Given the description of an element on the screen output the (x, y) to click on. 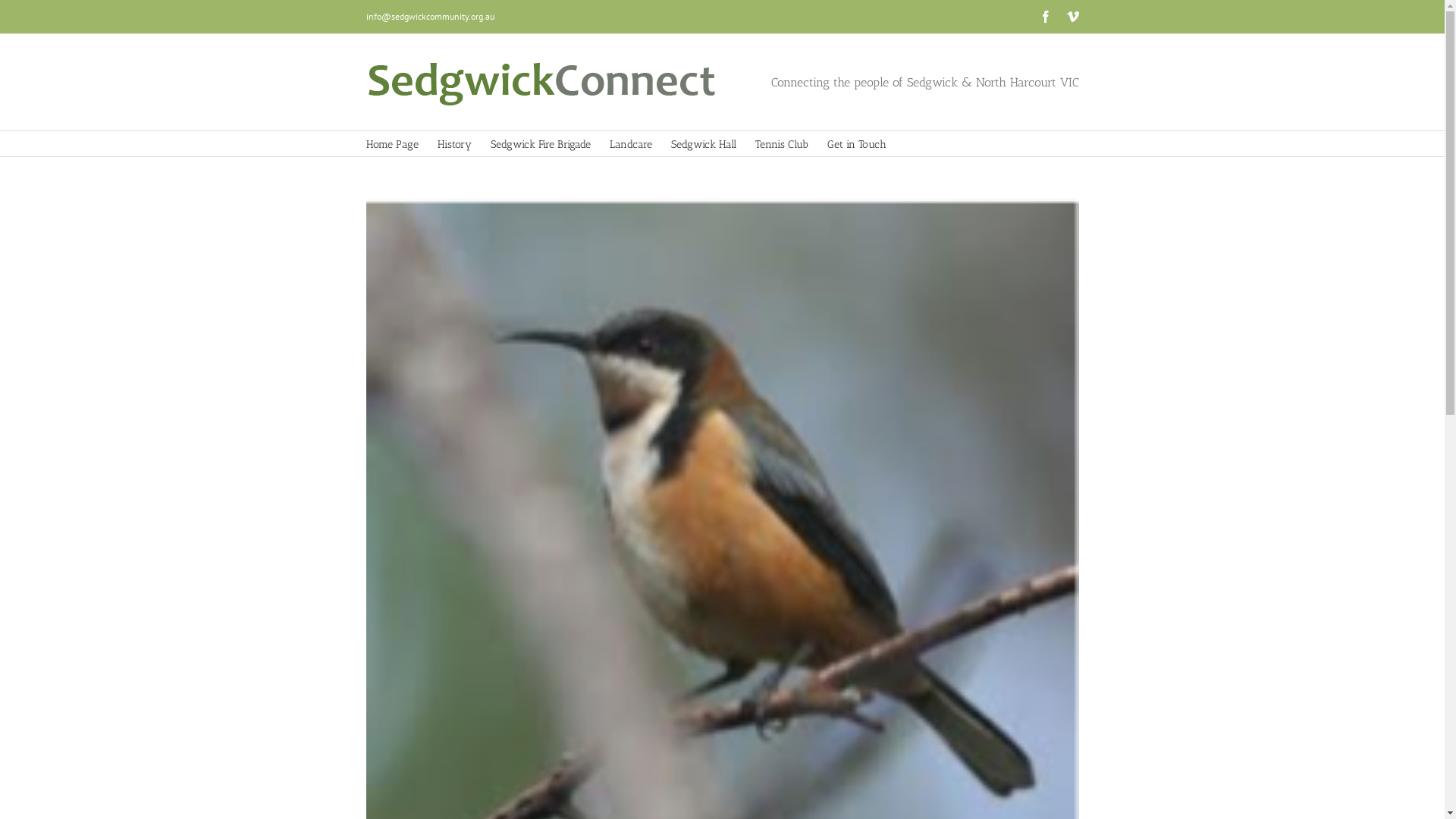
Facebook Element type: text (1044, 16)
Sedgwick Hall Element type: text (702, 143)
info@sedgwickcommunity.org.au Element type: text (429, 15)
Get in Touch Element type: text (855, 143)
Tennis Club Element type: text (781, 143)
Sedgwick Fire Brigade Element type: text (539, 143)
Landcare Element type: text (630, 143)
Home Page Element type: text (391, 143)
Vimeo Element type: text (1072, 16)
History Element type: text (453, 143)
